Given the description of an element on the screen output the (x, y) to click on. 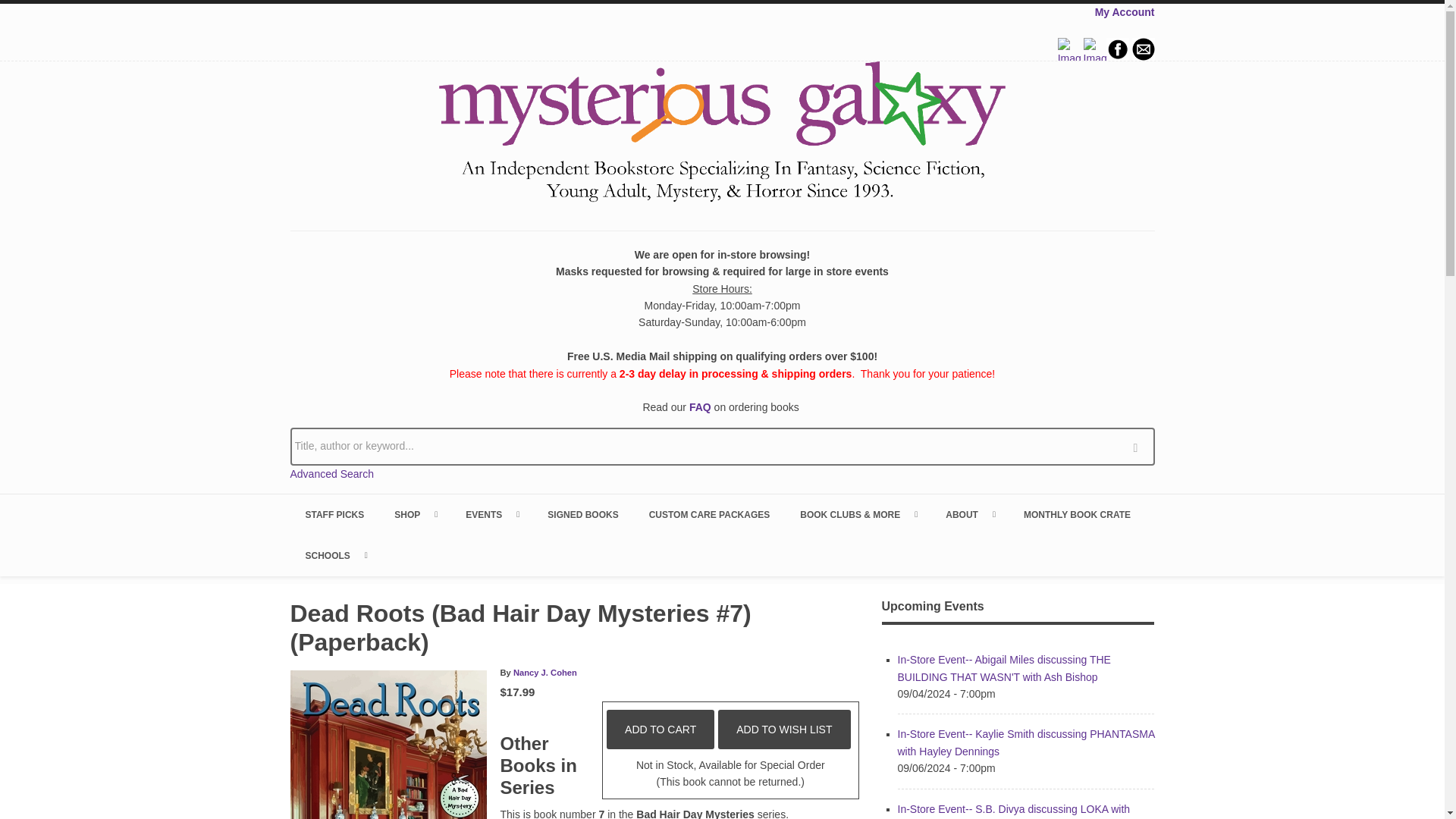
EVENTS (490, 514)
Title, author or keyword... (721, 446)
Home (722, 134)
FAQ (699, 407)
Advanced Search (331, 473)
STAFF PICKS (333, 514)
SHOP (413, 514)
My Account (1124, 11)
Add to Wish List (783, 729)
